Given the description of an element on the screen output the (x, y) to click on. 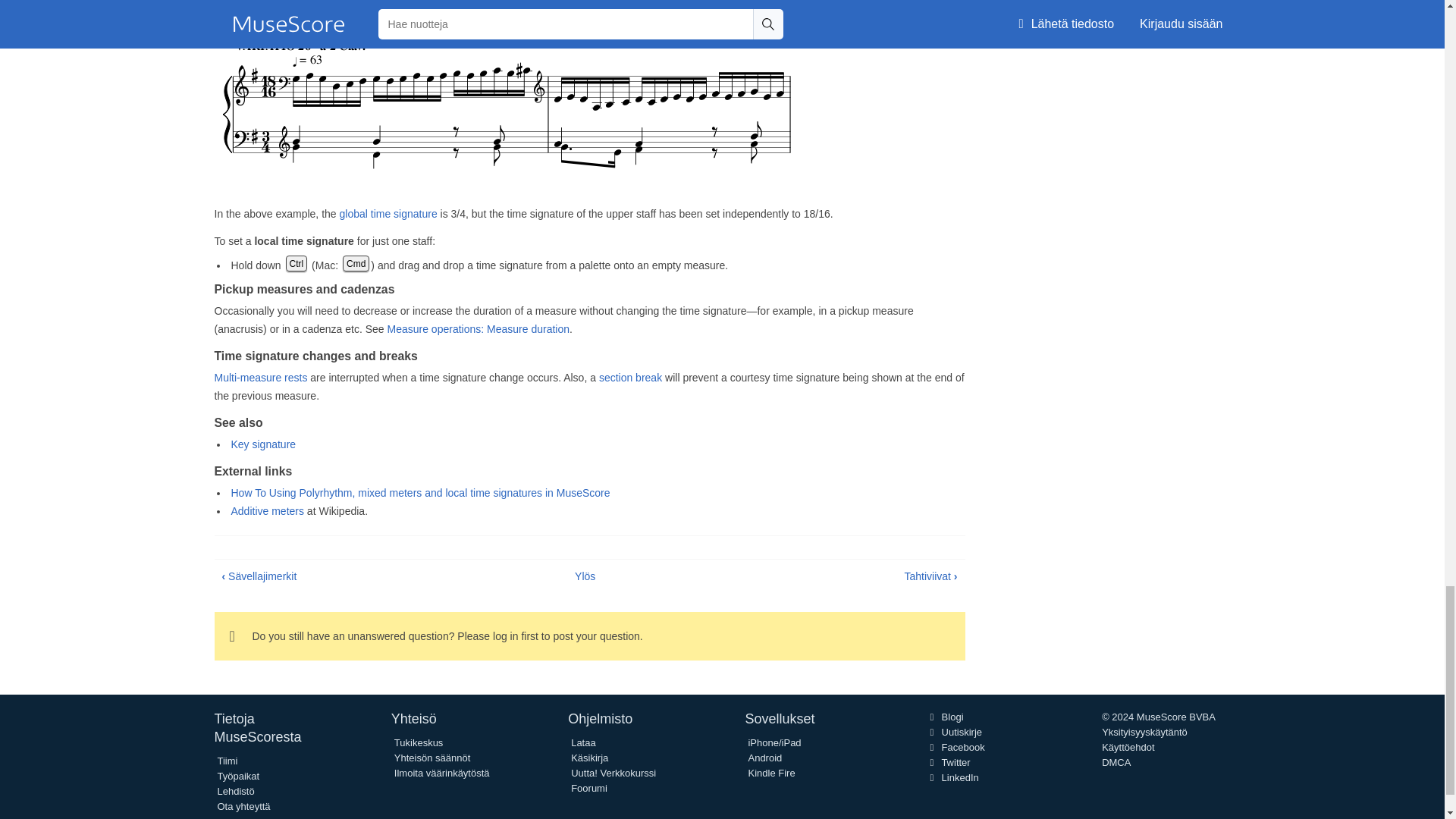
Bach's 26. Goldberg Variation (508, 106)
Siirry seuraavalle sivulle (930, 576)
Siirry edelliselle sivulle (259, 576)
